Given the description of an element on the screen output the (x, y) to click on. 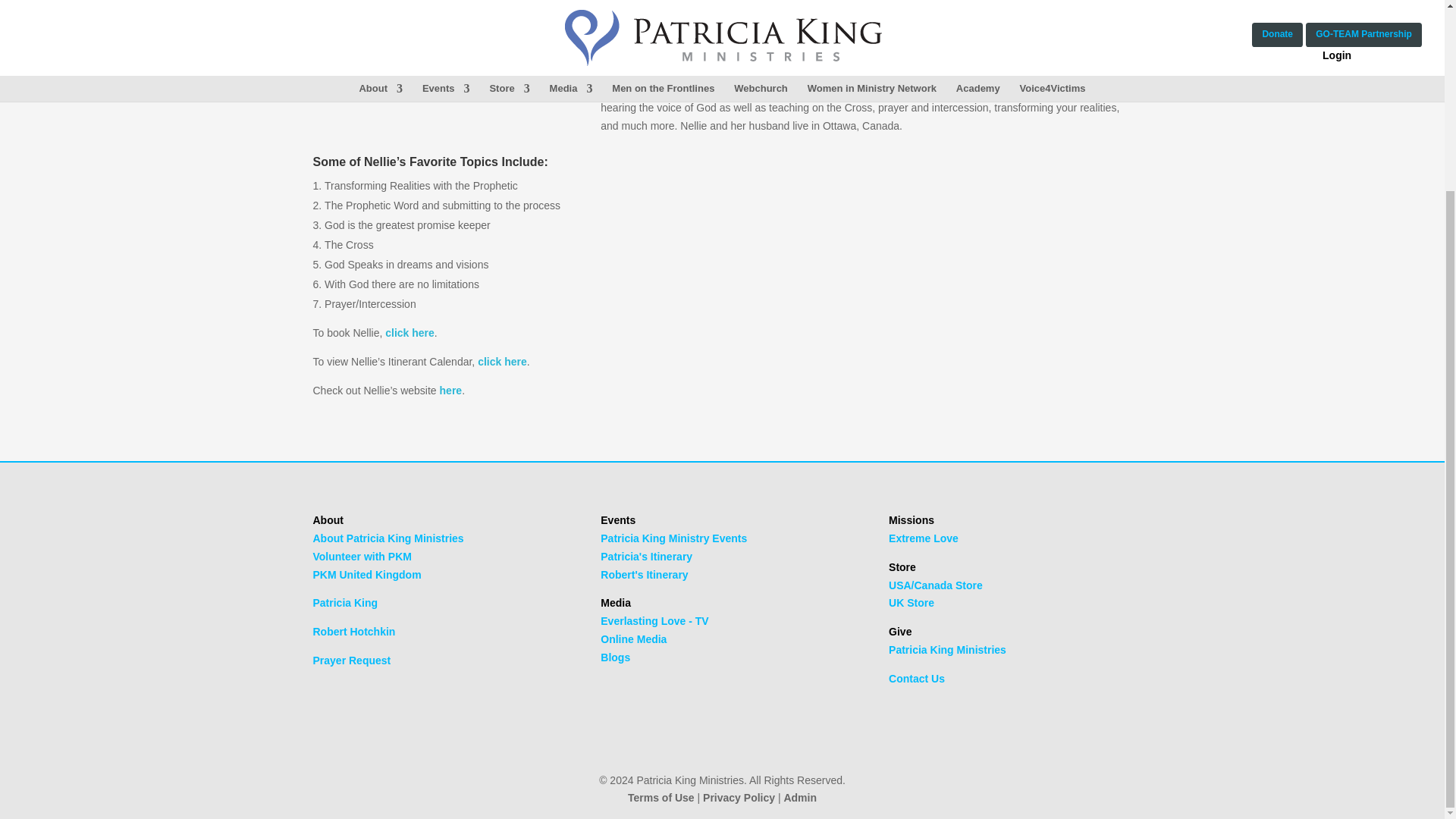
Volunteer with PKM (361, 556)
Online Media (632, 639)
Contact (916, 678)
About Patricia King Ministries (388, 538)
Patricia King (345, 603)
Prayer (351, 660)
Robert Hotchkin (353, 631)
